Given the description of an element on the screen output the (x, y) to click on. 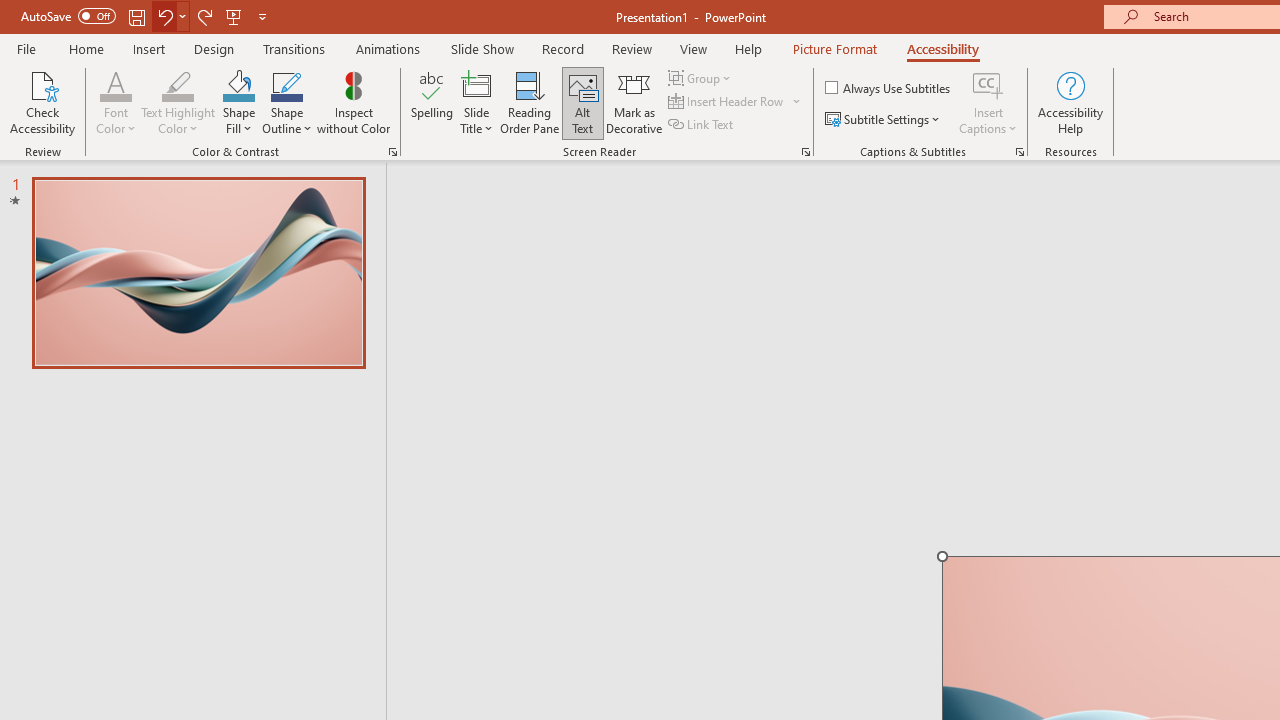
Color & Contrast (392, 151)
Picture Format (834, 48)
